Given the description of an element on the screen output the (x, y) to click on. 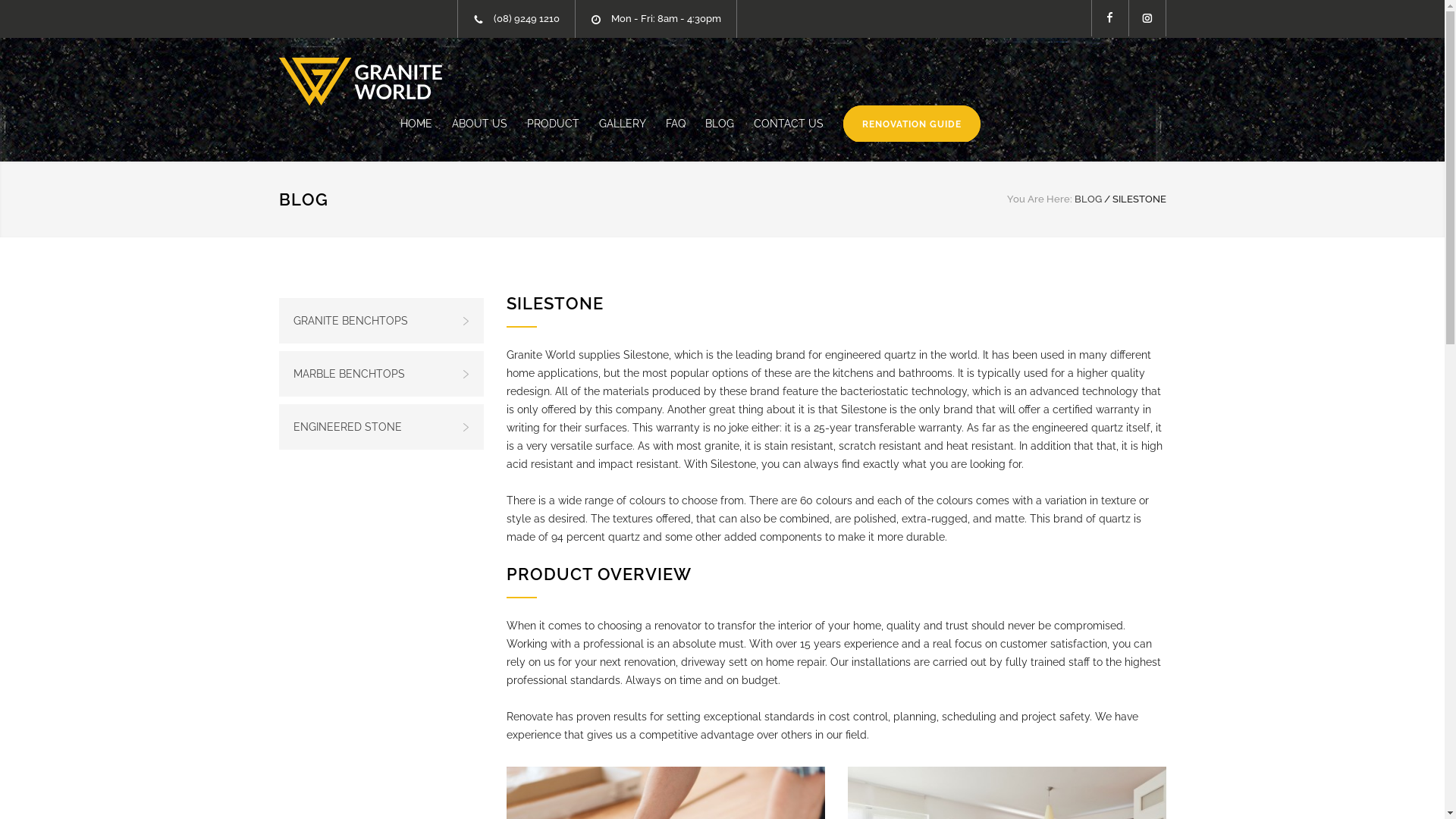
BLOG Element type: text (303, 199)
GALLERY Element type: text (612, 123)
PRODUCT Element type: text (542, 123)
ENGINEERED STONE Element type: text (381, 426)
RENOVATION GUIDE Element type: text (901, 123)
FAQ Element type: text (665, 123)
(08) 9249 1210 Element type: text (525, 18)
Granite World Element type: hover (360, 81)
HOME Element type: text (416, 123)
ABOUT US Element type: text (469, 123)
MARBLE BENCHTOPS Element type: text (381, 373)
BLOG Element type: text (709, 123)
CONTACT US Element type: text (778, 123)
BLOG Element type: text (1087, 198)
GRANITE BENCHTOPS Element type: text (381, 320)
